Given the description of an element on the screen output the (x, y) to click on. 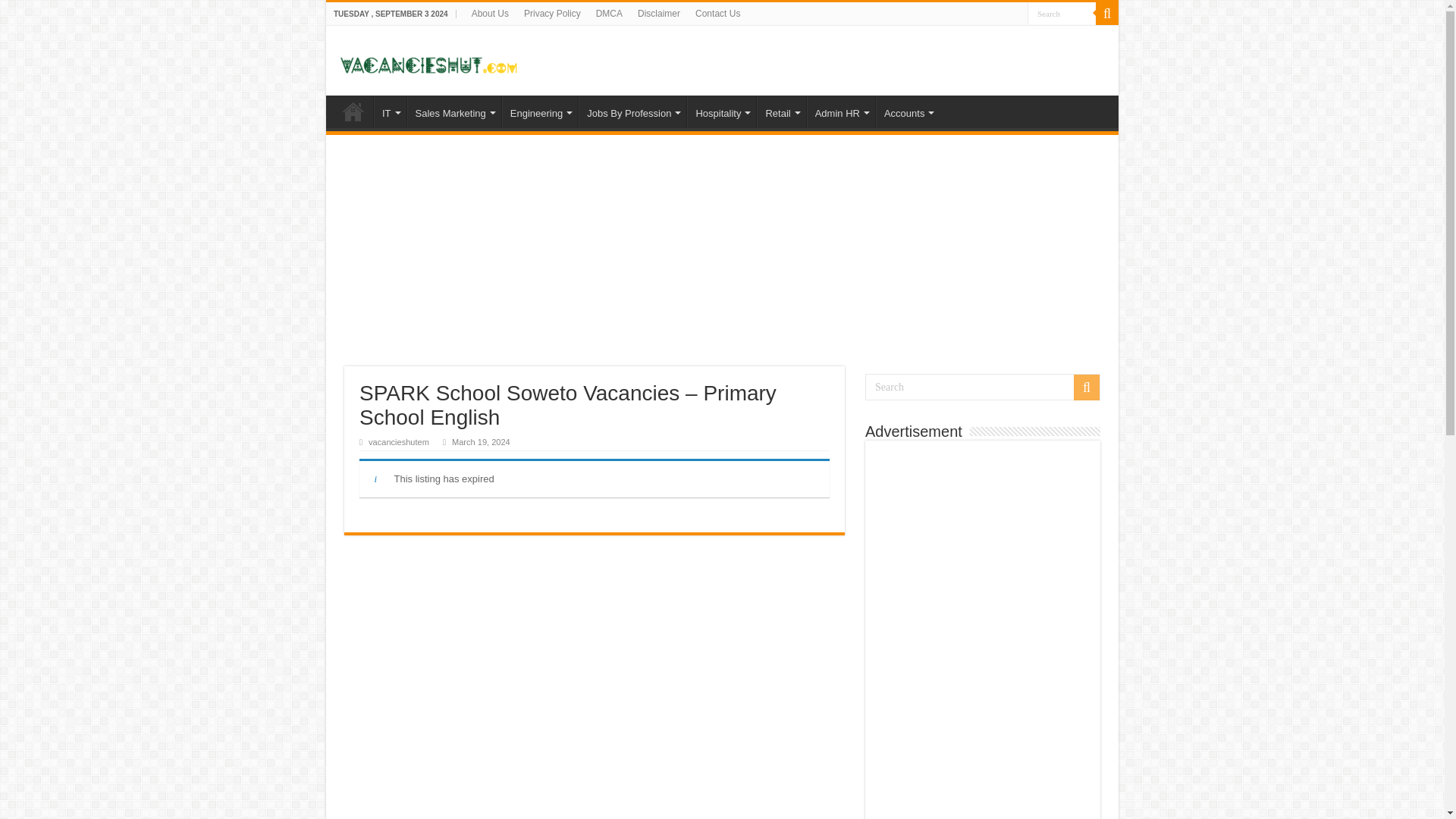
Search (1107, 13)
Home (352, 111)
Engineering (540, 111)
Vacancieshut (428, 58)
Disclaimer (658, 13)
About Us (490, 13)
Privacy Policy (552, 13)
Jobs By Profession (631, 111)
Search (1061, 13)
IT (390, 111)
